Given the description of an element on the screen output the (x, y) to click on. 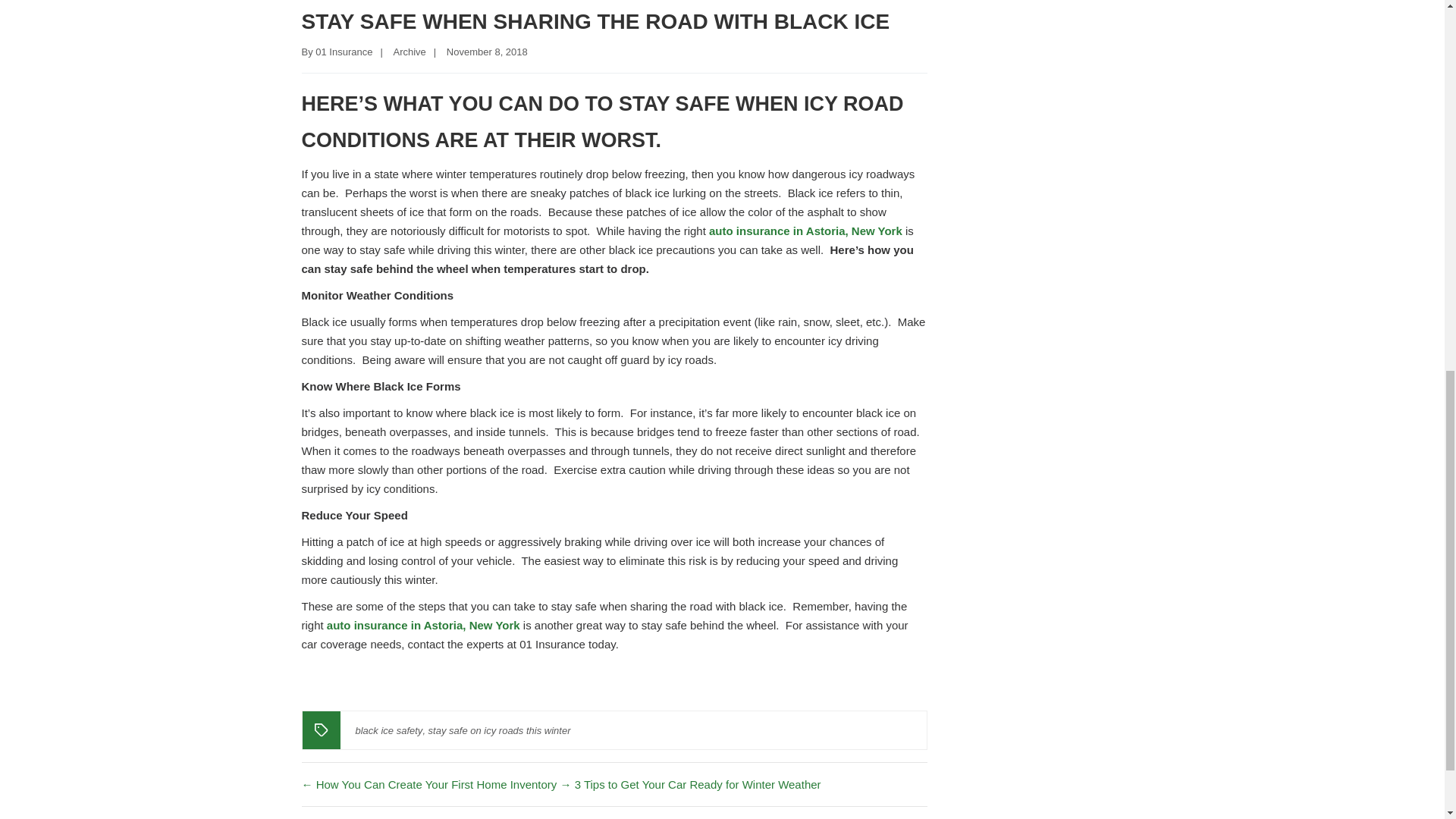
black ice safety (388, 730)
01 Insurance (343, 51)
auto insurance in Astoria, New York (805, 230)
stay safe on icy roads this winter (499, 730)
November 8, 2018 (486, 51)
Archive (409, 51)
auto insurance in Astoria, New York (422, 624)
